Given the description of an element on the screen output the (x, y) to click on. 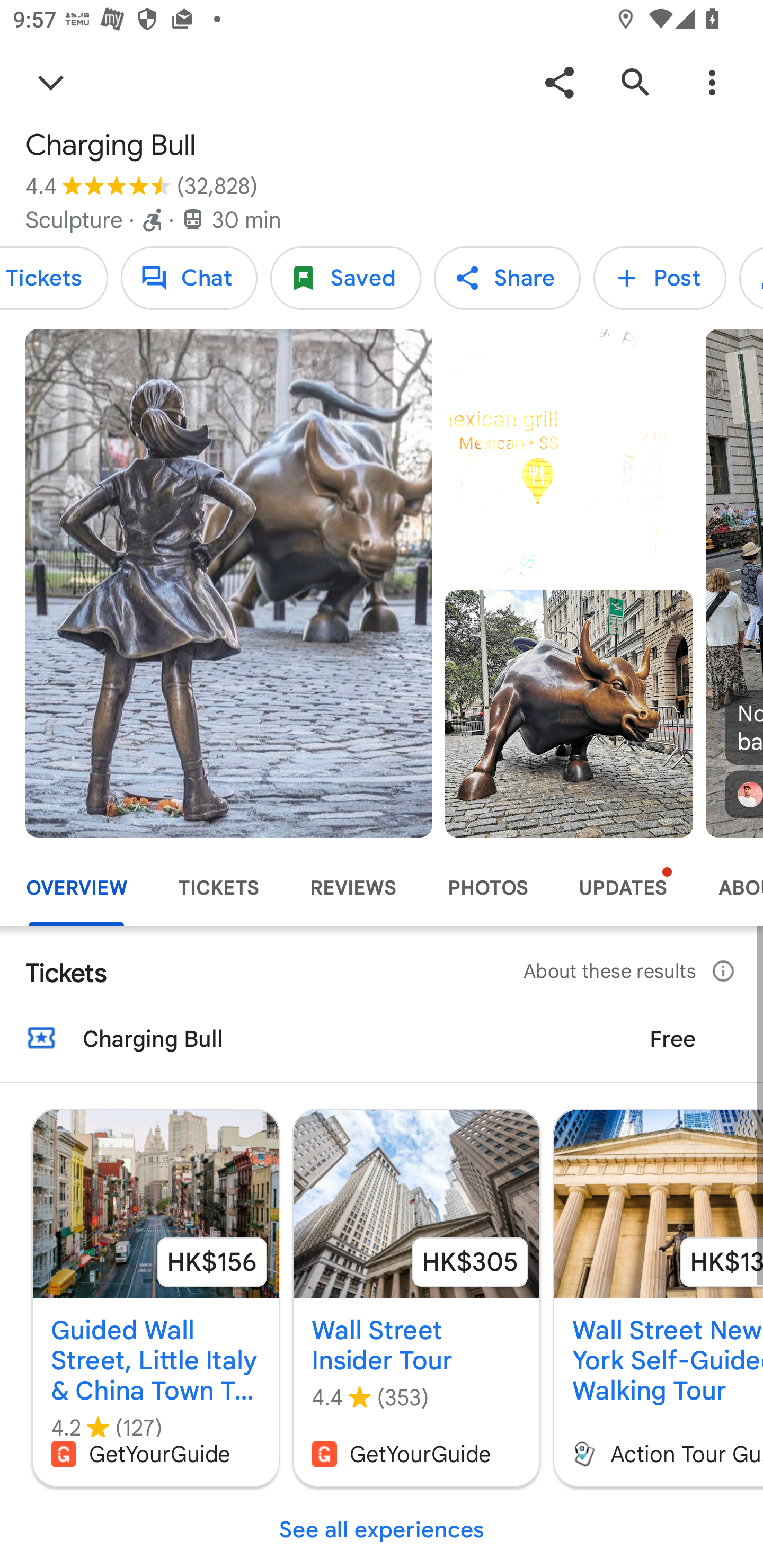
Back to Search (50, 81)
Share (559, 81)
Search (635, 81)
More options for Charging Bull (711, 81)
Tickets (54, 277)
Chat (188, 277)
Share Charging Bull Share Share Charging Bull (507, 277)
Post Post Post (659, 277)
Photo (228, 583)
Video (568, 453)
Photo (568, 713)
TICKETS Tickets (218, 887)
REVIEWS Reviews (352, 887)
PHOTOS Photos (487, 887)
UPDATES Updates New updates in Updates (622, 887)
ABOUT About (727, 887)
About these results (630, 970)
